Given the description of an element on the screen output the (x, y) to click on. 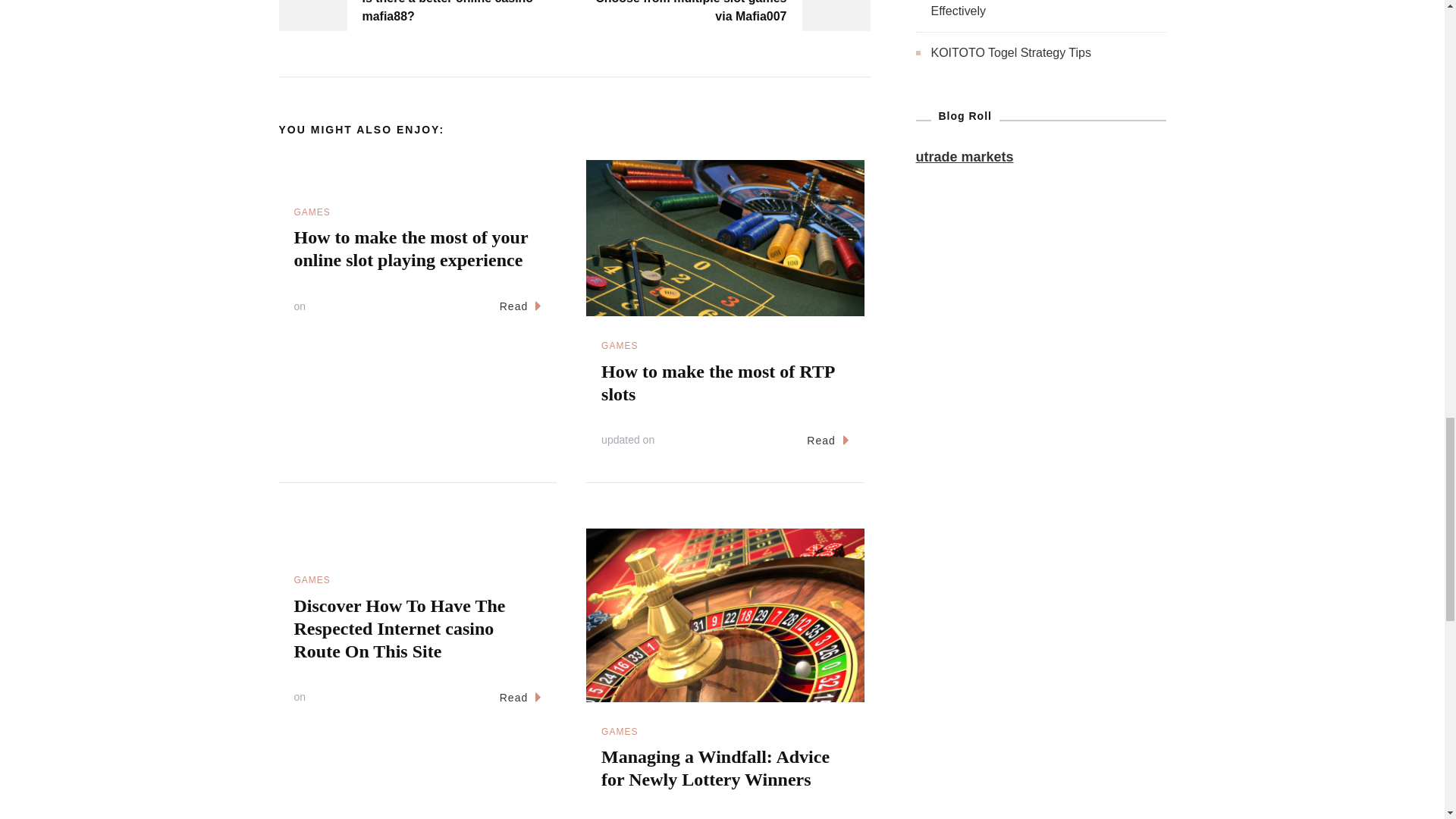
GAMES (619, 346)
How to make the most of your online slot playing experience (411, 248)
How to make the most of RTP slots (717, 382)
Read (520, 306)
GAMES (312, 212)
Read (827, 440)
